Given the description of an element on the screen output the (x, y) to click on. 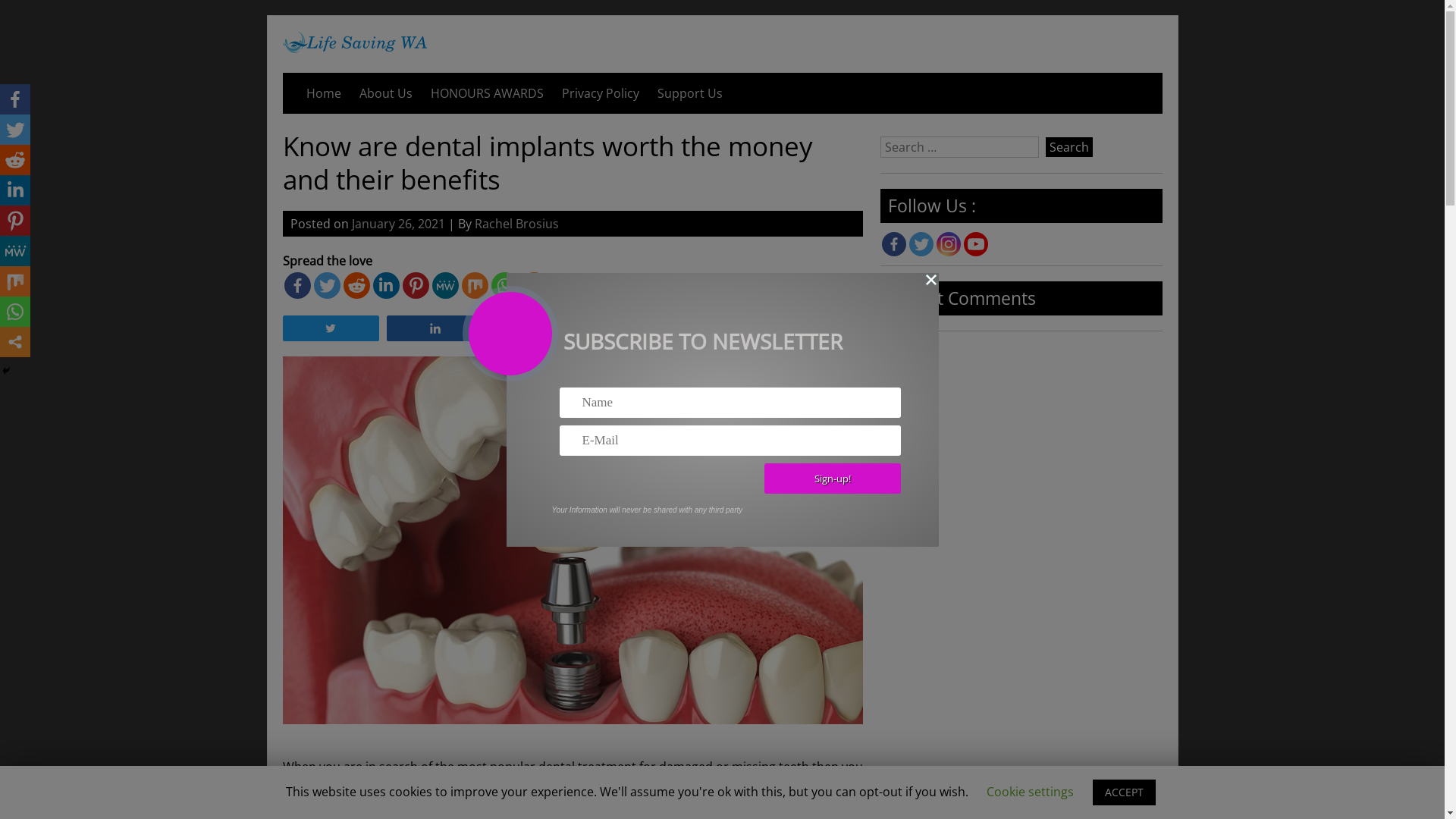
MeWe Element type: hover (445, 285)
Twitter Element type: hover (326, 285)
Mix Element type: hover (15, 281)
Reddit Element type: hover (15, 159)
Linkedin Element type: hover (386, 285)
Pinterest Element type: hover (414, 285)
Reddit Element type: hover (355, 285)
Hide Element type: hover (6, 370)
Facebook Element type: hover (893, 244)
About Us Element type: text (385, 92)
Life Saving WA Element type: hover (354, 48)
Youtube Channel Element type: hover (975, 244)
Privacy Policy Element type: text (600, 92)
HONOURS AWARDS Element type: text (486, 92)
dental implants in Burwood Element type: text (511, 784)
Whatsapp Element type: hover (15, 311)
Search Element type: text (1068, 146)
Facebook Element type: hover (296, 285)
More Element type: hover (533, 285)
Twitter Element type: hover (15, 129)
January 26, 2021 Element type: text (398, 223)
Support Us Element type: text (689, 92)
More Element type: hover (15, 341)
Linkedin Element type: hover (15, 190)
ACCEPT Element type: text (1123, 792)
Rachel Brosius Element type: text (516, 223)
Sign-up! Element type: text (832, 477)
MeWe Element type: hover (15, 250)
Home Element type: text (323, 92)
Facebook Element type: hover (15, 99)
Cookie settings Element type: text (1029, 791)
Whatsapp Element type: hover (504, 285)
Mix Element type: hover (474, 285)
Twitter Element type: hover (921, 244)
Pinterest Element type: hover (15, 220)
Instagram Element type: hover (948, 244)
